Given the description of an element on the screen output the (x, y) to click on. 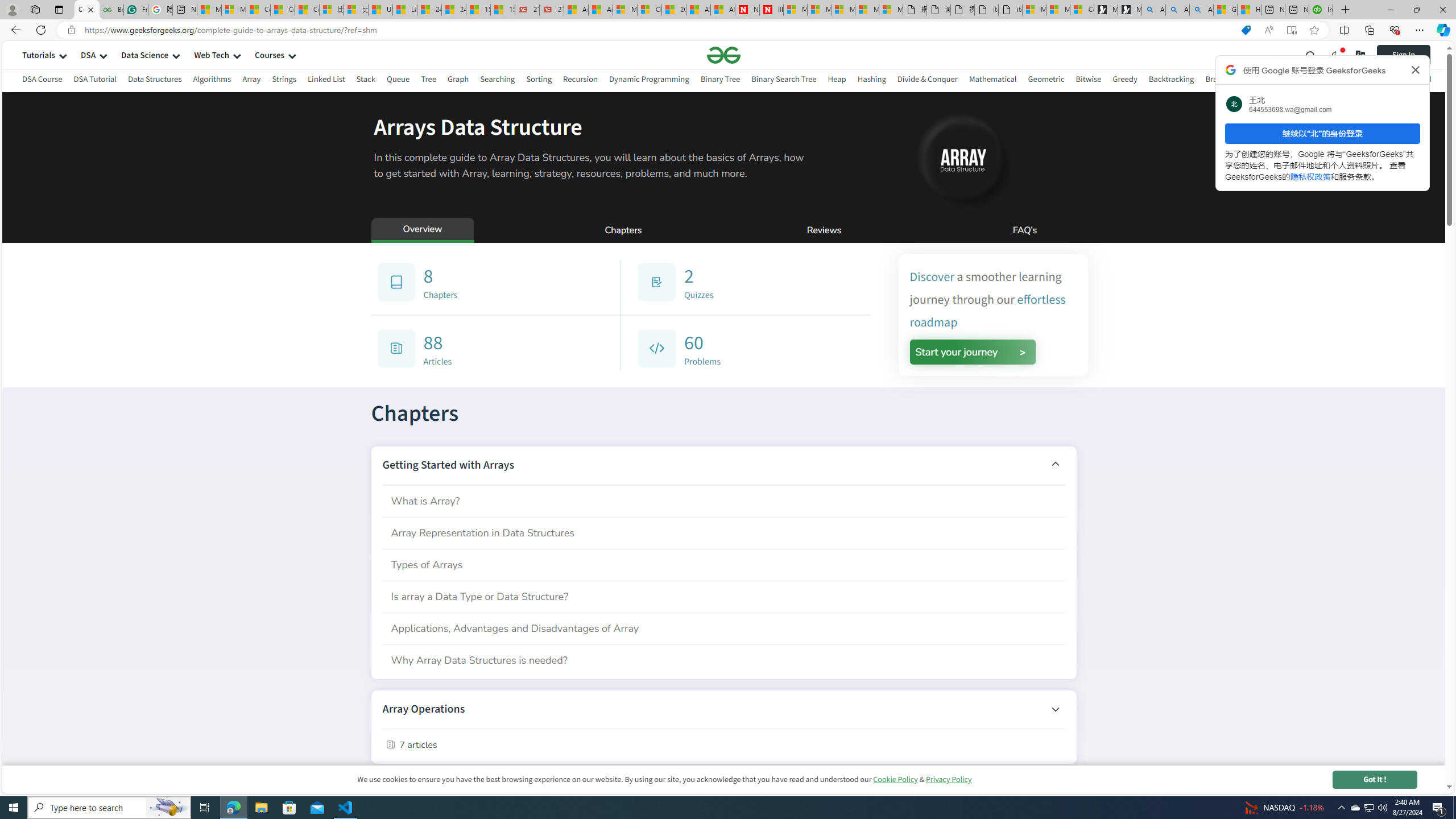
geeksforgeeks (723, 54)
Matrix (1291, 80)
Web Tech (211, 55)
Array (250, 79)
USA TODAY - MSN (380, 9)
Binary Search Tree (783, 79)
Array (250, 80)
Logo (723, 54)
Got It ! (1374, 779)
Lifestyle - MSN (404, 9)
Hashing (871, 80)
Class: Bz112c Bz112c-r9oPif (1415, 69)
